Given the description of an element on the screen output the (x, y) to click on. 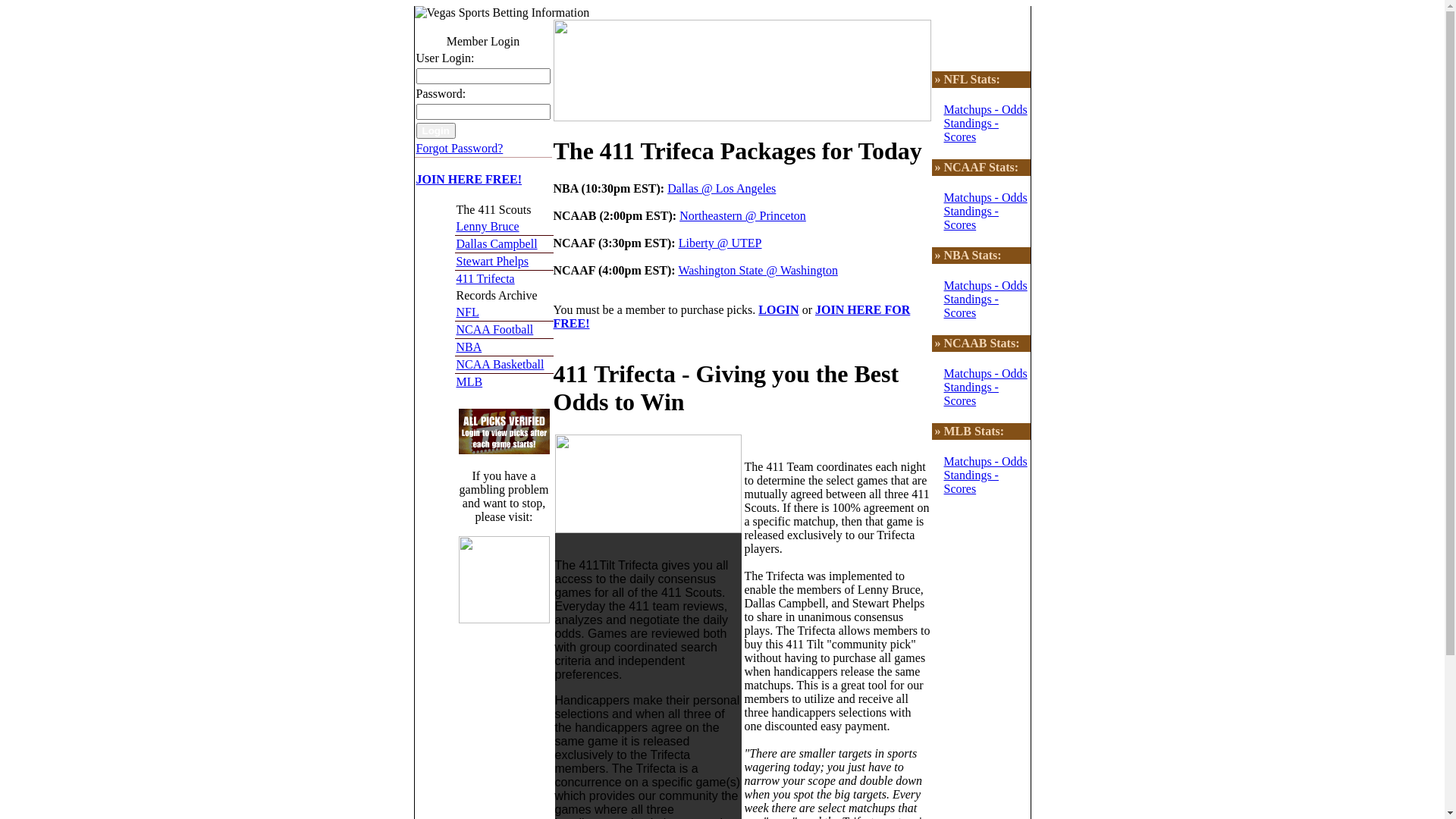
NCAA Basketball Element type: text (500, 363)
Matchups - Odds
Standings - Scores Element type: text (984, 211)
LOGIN Element type: text (778, 309)
Matchups - Odds
Standings - Scores Element type: text (984, 129)
Matchups - Odds
Standings - Scores Element type: text (984, 475)
NBA Element type: text (469, 346)
Washington State @ Washington Element type: text (757, 269)
Forgot Password? Element type: text (458, 147)
Dallas @ Los Angeles Element type: text (721, 188)
Matchups - Odds
Standings - Scores Element type: text (984, 387)
JOIN HERE FREE! Element type: text (468, 185)
MLB Element type: text (469, 381)
Northeastern @ Princeton Element type: text (742, 215)
Lenny Bruce Element type: text (487, 225)
Stewart Phelps Element type: text (492, 260)
JOIN HERE FOR FREE! Element type: text (731, 316)
Liberty @ UTEP Element type: text (720, 242)
Matchups - Odds
Standings - Scores Element type: text (984, 299)
Login Element type: text (435, 130)
NFL Element type: text (467, 311)
411 Trifecta Element type: text (485, 278)
Dallas Campbell Element type: text (496, 243)
NCAA Football Element type: text (494, 329)
